Given the description of an element on the screen output the (x, y) to click on. 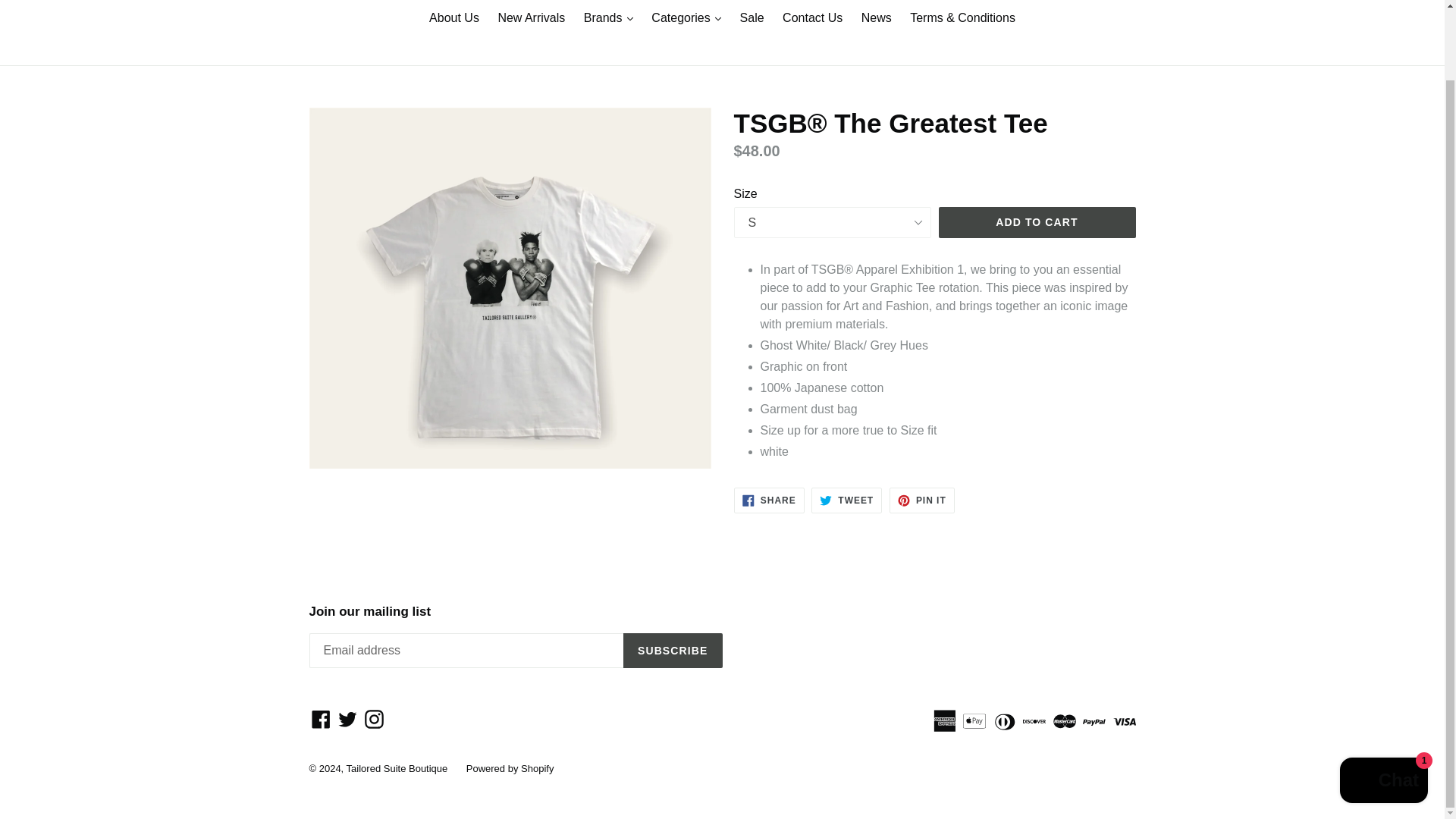
Tweet on Twitter (846, 500)
Tailored Suite Boutique on Instagram (373, 719)
Share on Facebook (769, 500)
Tailored Suite Boutique on Twitter (347, 719)
Shopify online store chat (1383, 704)
Tailored Suite Boutique on Facebook (320, 719)
Pin on Pinterest (922, 500)
About Us (454, 19)
